Given the description of an element on the screen output the (x, y) to click on. 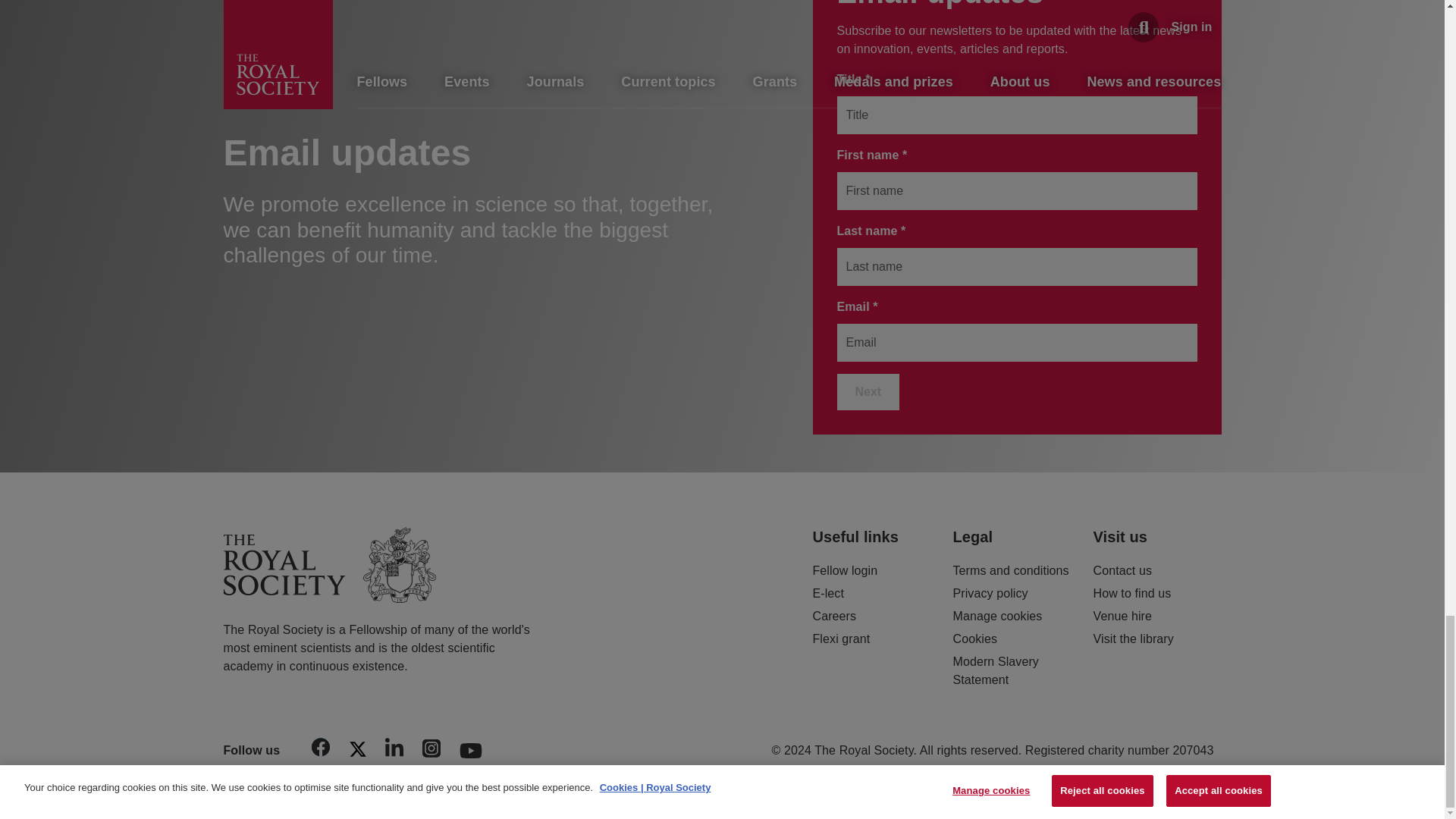
Facebook (320, 750)
Twitter (357, 752)
LinkedIn (393, 750)
Instagram (431, 751)
YouTube (470, 746)
